Given the description of an element on the screen output the (x, y) to click on. 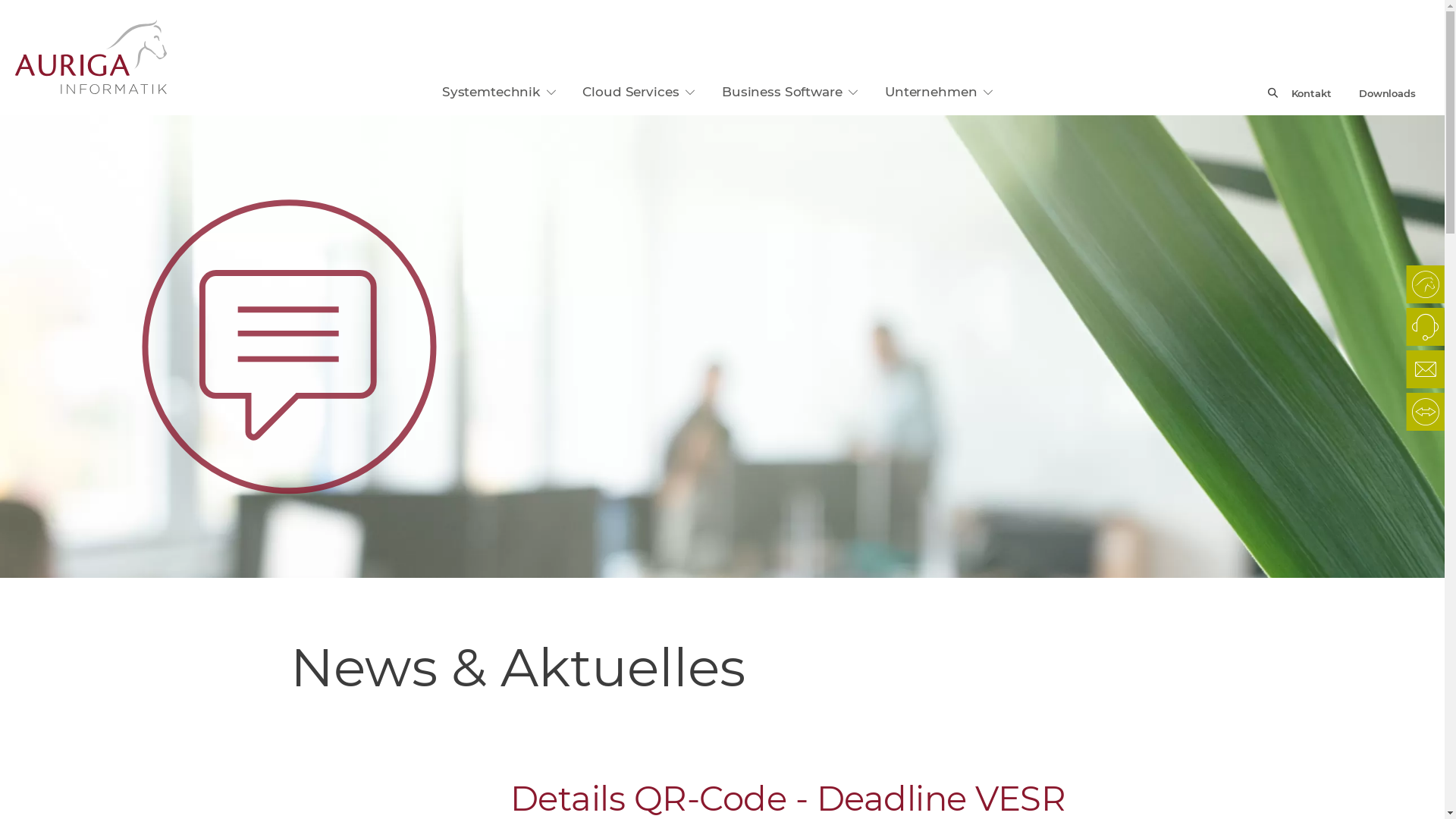
Business Software Element type: text (789, 91)
Unternehmen Element type: text (938, 91)
Kontakt Element type: text (1311, 93)
Systemtechnik Element type: text (498, 91)
Cloud Services Element type: text (638, 91)
Downloads Element type: text (1386, 93)
